Given the description of an element on the screen output the (x, y) to click on. 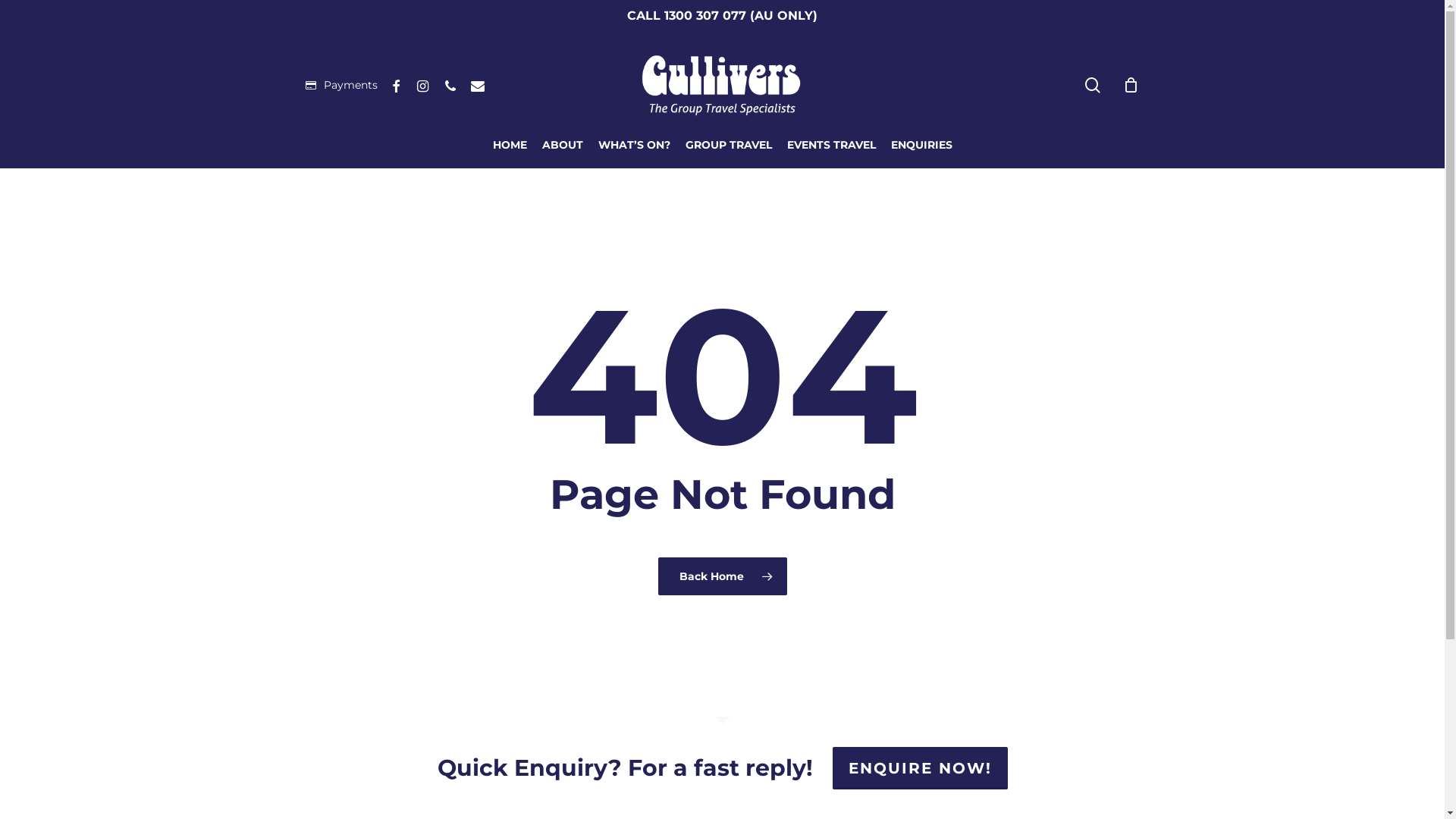
ENQUIRIES Element type: text (920, 145)
EVENTS TRAVEL Element type: text (831, 145)
Instagram Element type: text (422, 84)
HOME Element type: text (509, 145)
Email Element type: text (477, 84)
Payments Element type: text (340, 84)
ENQUIRE NOW! Element type: text (919, 767)
GROUP TRAVEL Element type: text (728, 145)
CALL 1300 307 077 (AU ONLY) Element type: text (722, 15)
Back Home Element type: text (722, 575)
search Element type: text (1091, 85)
Facebook Element type: text (395, 84)
ABOUT Element type: text (561, 145)
Phone Element type: text (450, 84)
